Given the description of an element on the screen output the (x, y) to click on. 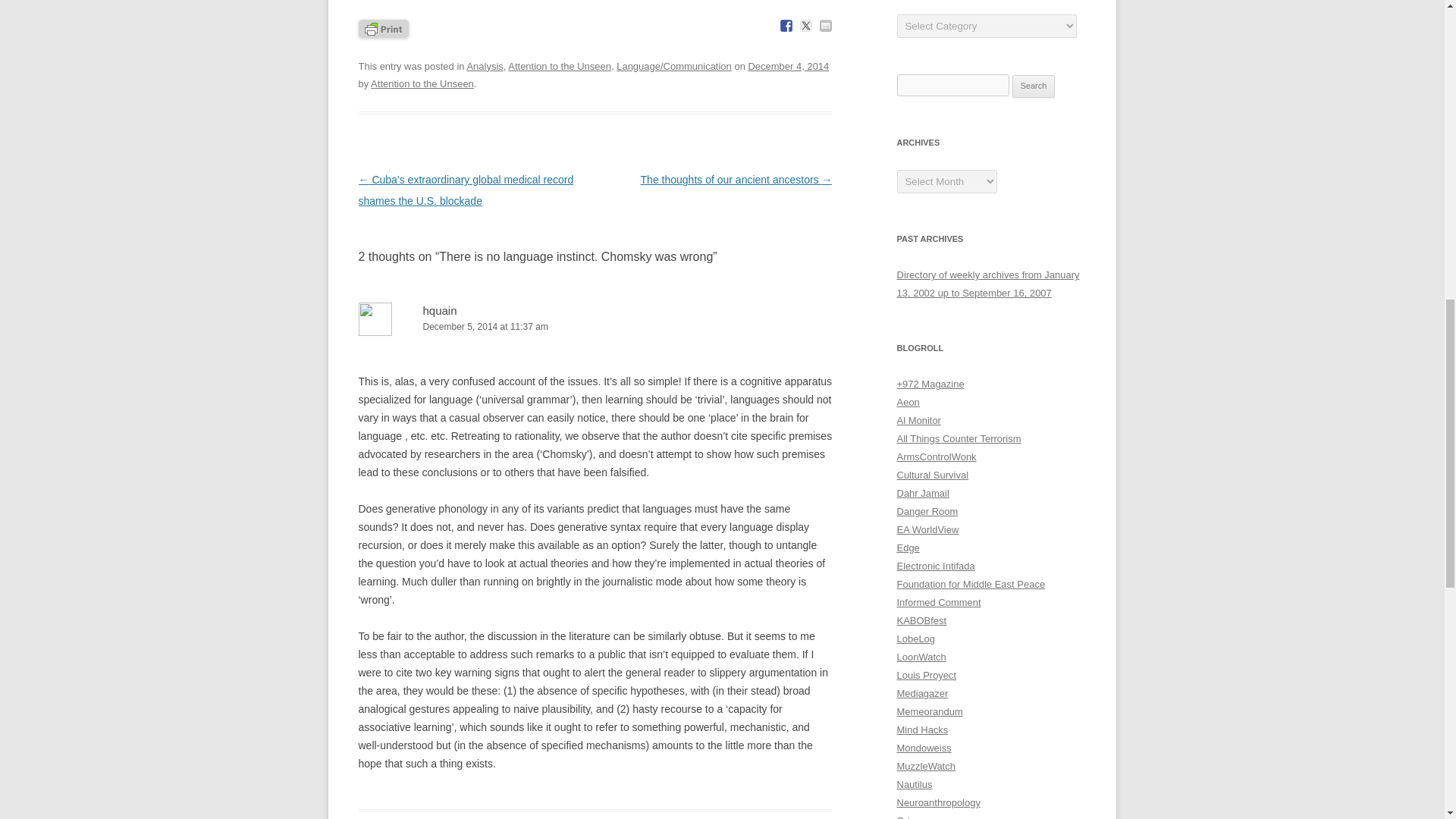
Share on Facebook (786, 25)
Analysis (483, 66)
December 5, 2014 at 11:37 am (594, 326)
Share by email (825, 25)
Search (1033, 86)
Search (1033, 86)
Dahr Jamail (922, 492)
Attention to the Unseen (559, 66)
View all posts by Attention to the Unseen (422, 83)
ArmsControlWonk (935, 456)
Al Monitor (918, 419)
Attention to the Unseen (422, 83)
